Given the description of an element on the screen output the (x, y) to click on. 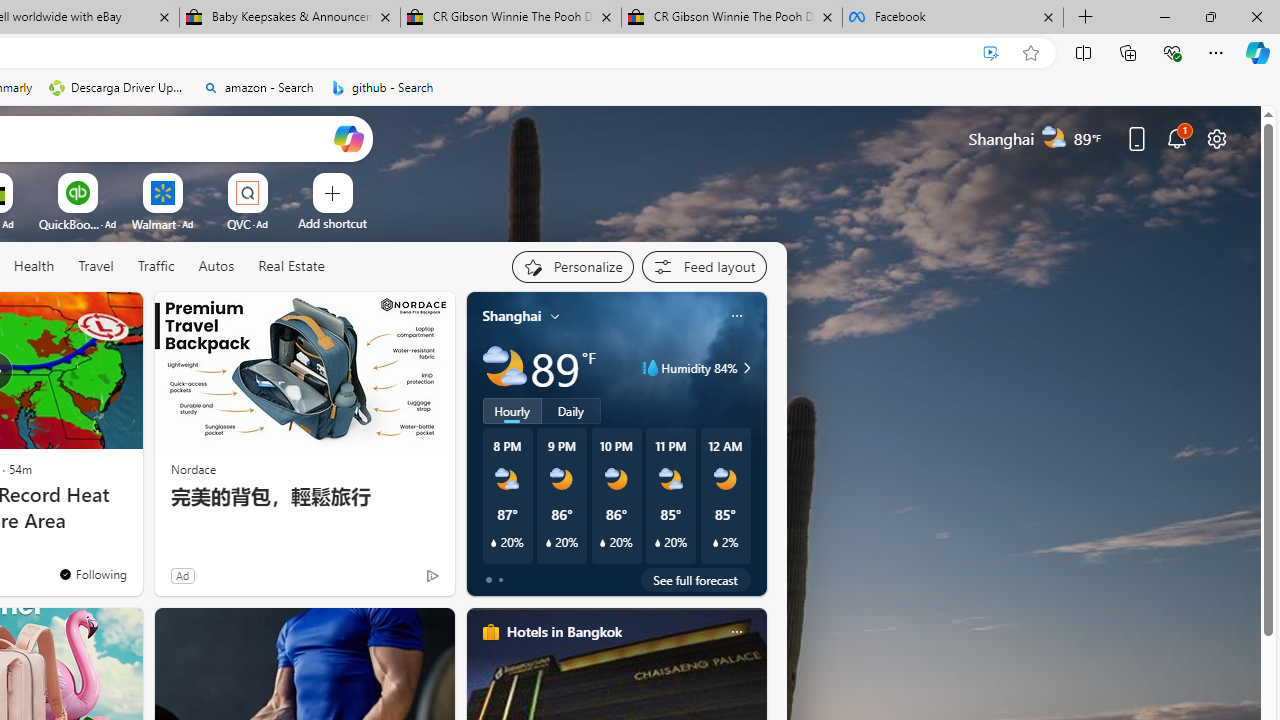
Autos (216, 267)
